Given the description of an element on the screen output the (x, y) to click on. 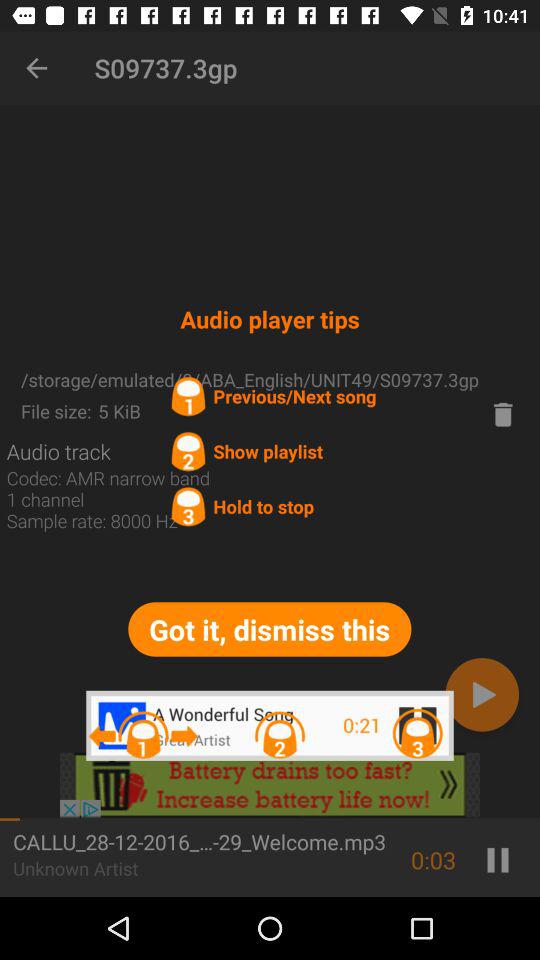
select item next to s09737.3gp item (36, 68)
